Given the description of an element on the screen output the (x, y) to click on. 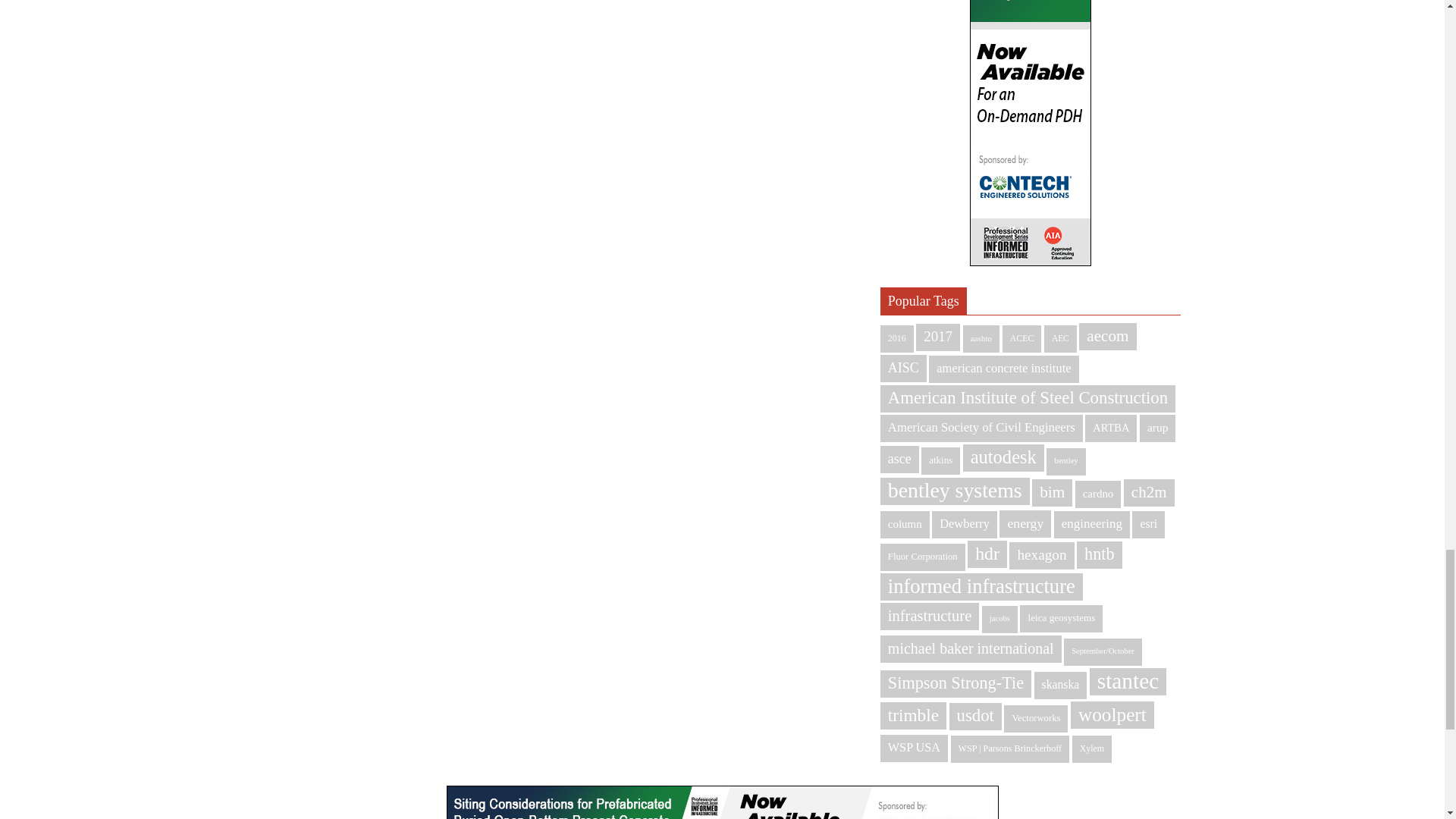
Contech PDH (721, 802)
